Given the description of an element on the screen output the (x, y) to click on. 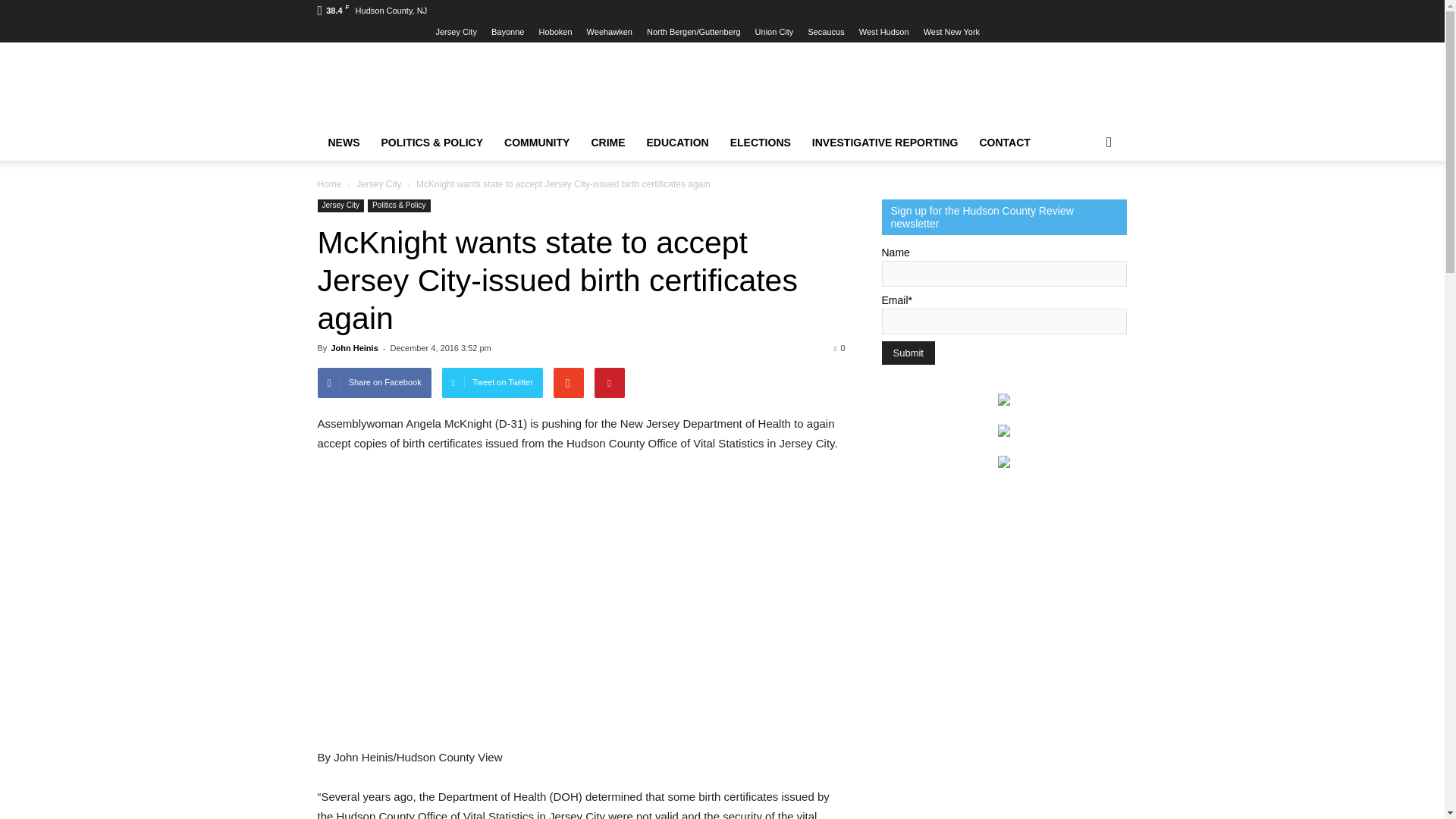
INVESTIGATIVE REPORTING (885, 142)
Jersey City (455, 31)
Union City (774, 31)
Weehawken (608, 31)
CRIME (606, 142)
West New York (951, 31)
EDUCATION (677, 142)
Submit (907, 352)
Bayonne (508, 31)
COMMUNITY (536, 142)
